Given the description of an element on the screen output the (x, y) to click on. 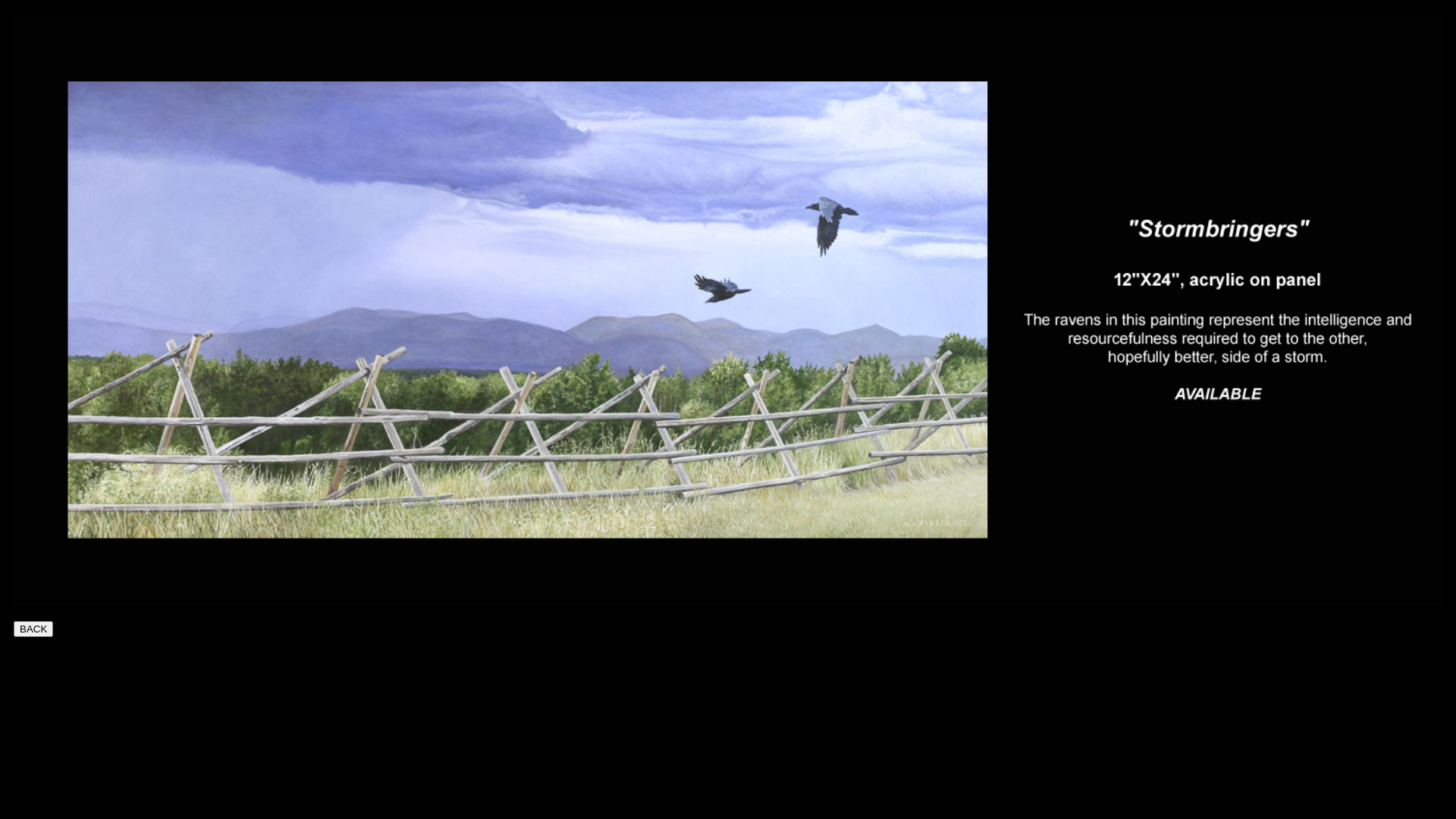
BACK Element type: text (33, 629)
